Given the description of an element on the screen output the (x, y) to click on. 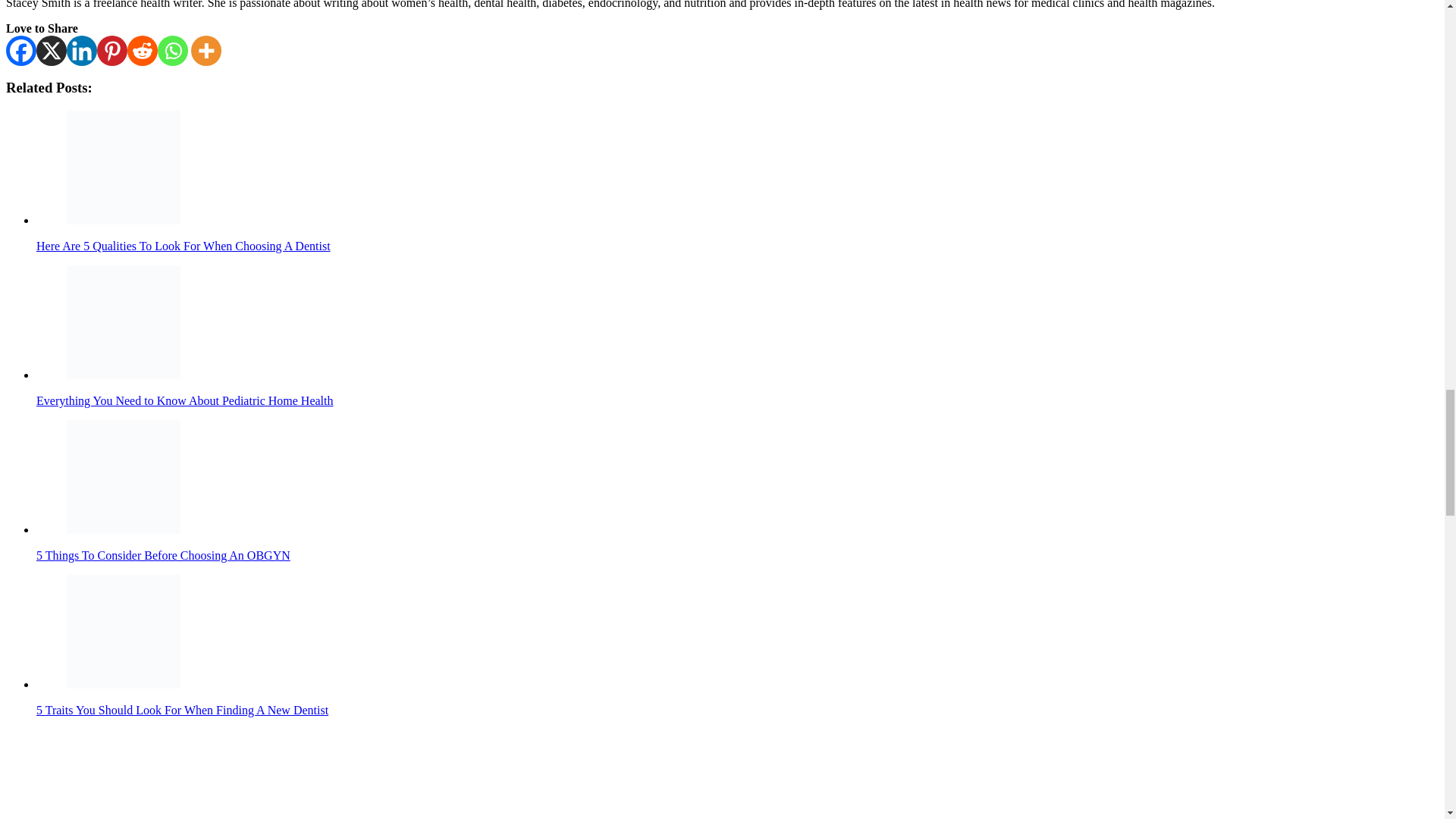
More (205, 50)
Whatsapp (172, 50)
Reddit (142, 50)
Pinterest (112, 50)
Linkedin (81, 50)
Everything You Need to Know About Pediatric Home Health (123, 322)
5 Traits You Should Look For When Finding A New Dentist (123, 631)
X (51, 50)
5 Things To Consider Before Choosing An OBGYN (123, 476)
Facebook (20, 50)
